Given the description of an element on the screen output the (x, y) to click on. 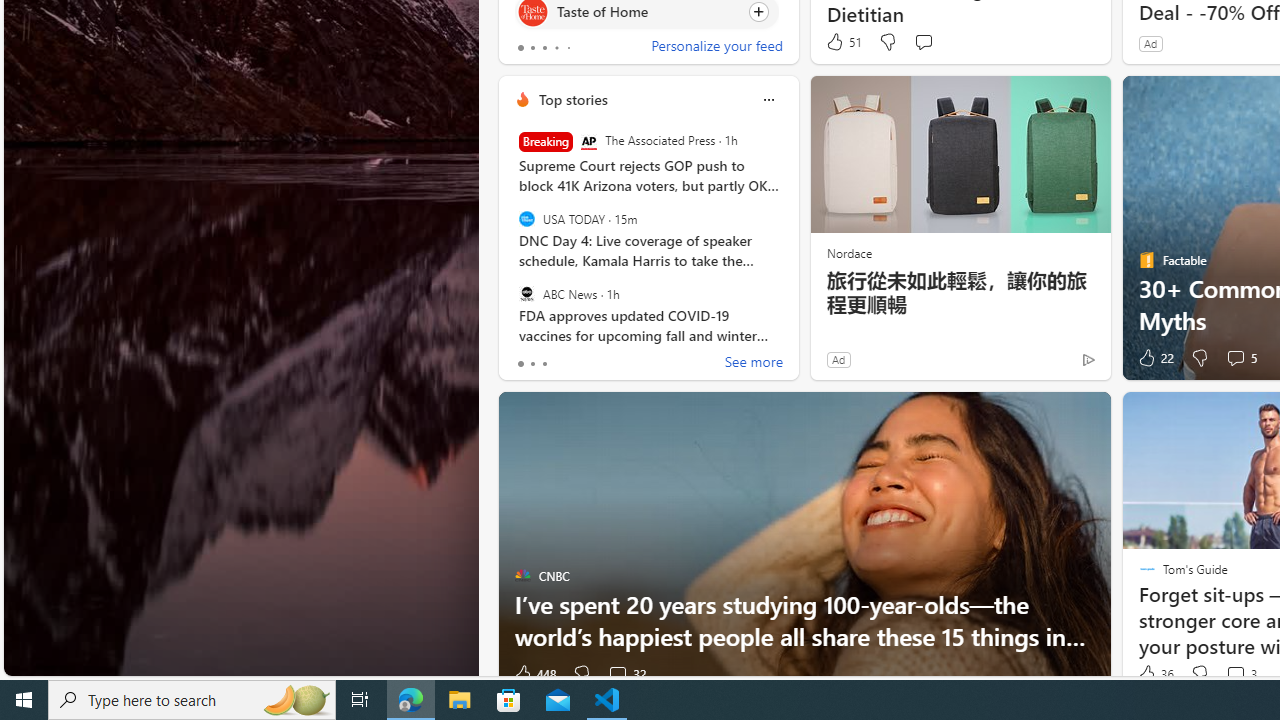
View comments 5 Comment (1234, 357)
Start the conversation (923, 42)
ABC News (526, 293)
tab-3 (556, 47)
View comments 32 Comment (617, 673)
USA TODAY (526, 219)
tab-2 (543, 363)
The Associated Press (587, 142)
Ad Choice (1087, 359)
